Given the description of an element on the screen output the (x, y) to click on. 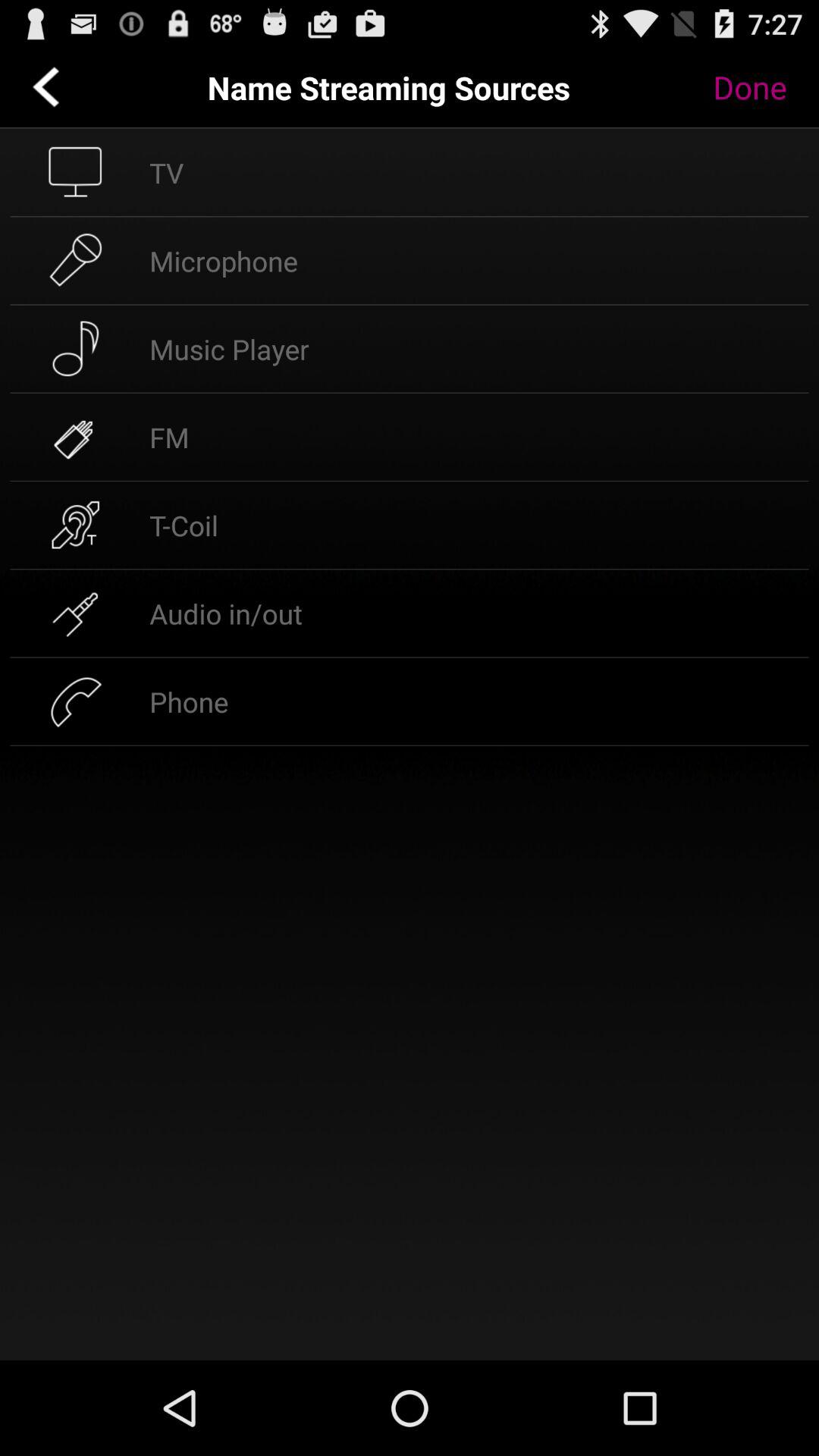
turn on item next to name streaming sources item (760, 87)
